Given the description of an element on the screen output the (x, y) to click on. 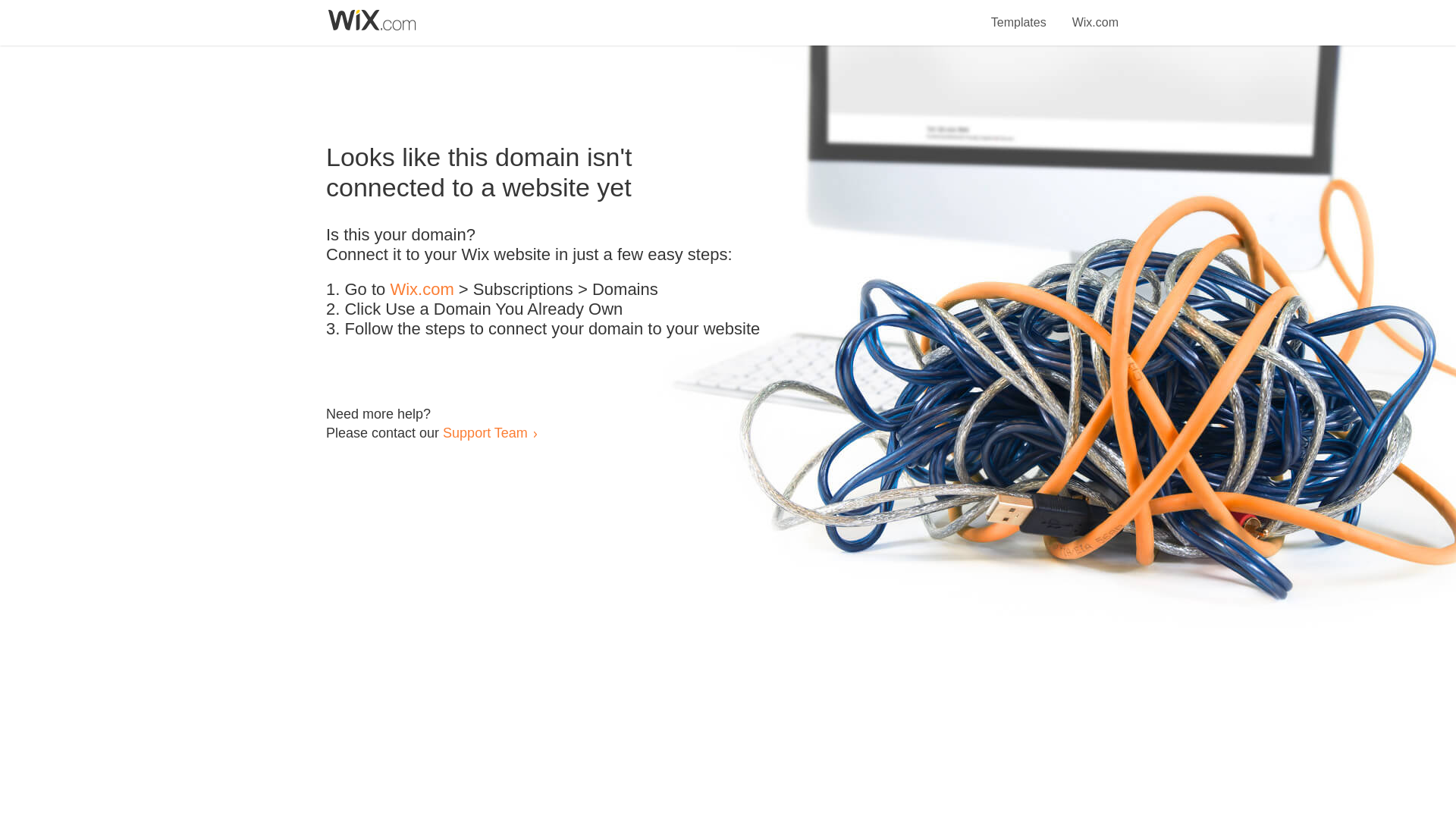
Support Team (484, 432)
Templates (1018, 14)
Wix.com (1095, 14)
Wix.com (421, 289)
